Given the description of an element on the screen output the (x, y) to click on. 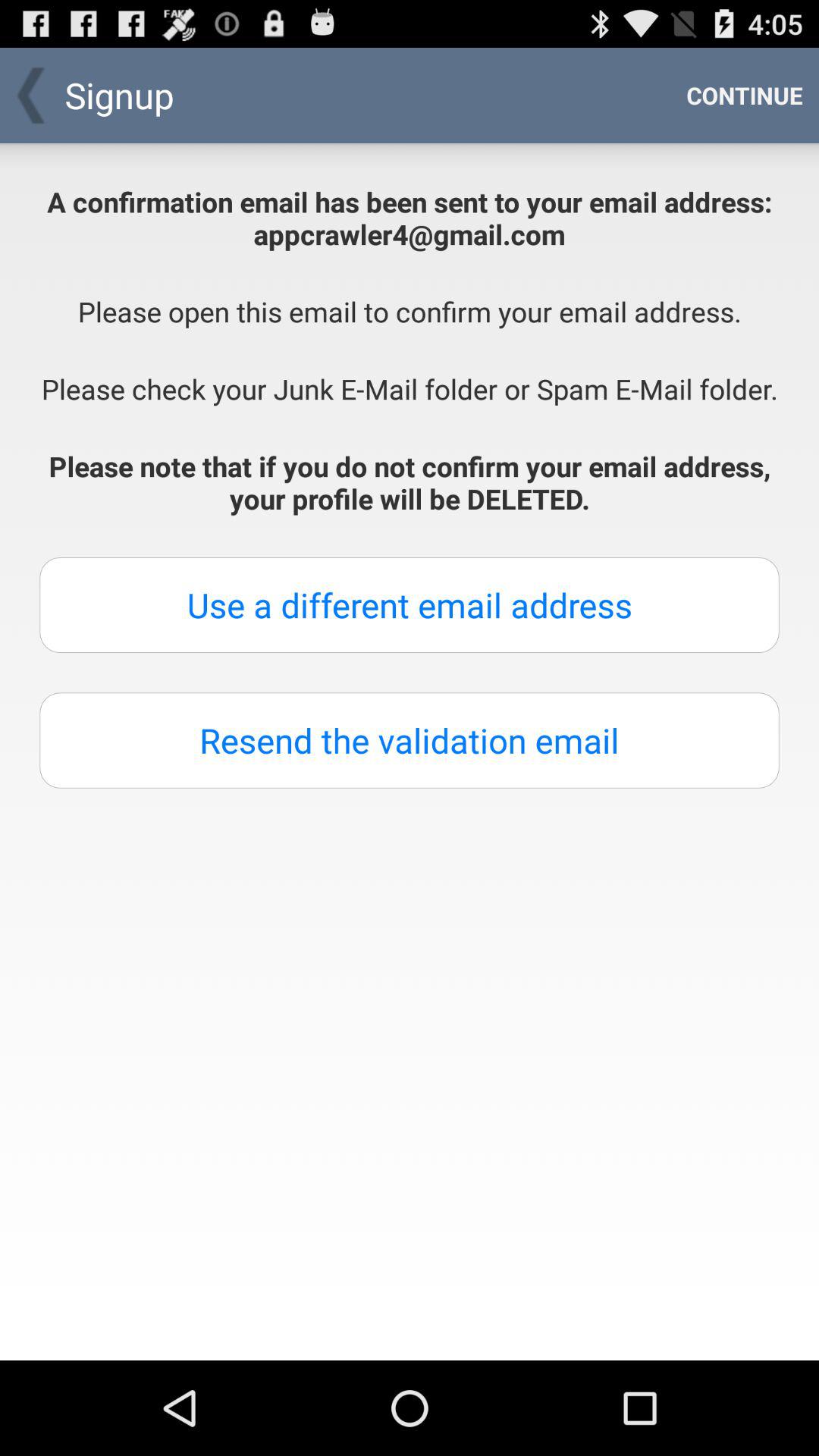
launch item next to the signup item (744, 95)
